Given the description of an element on the screen output the (x, y) to click on. 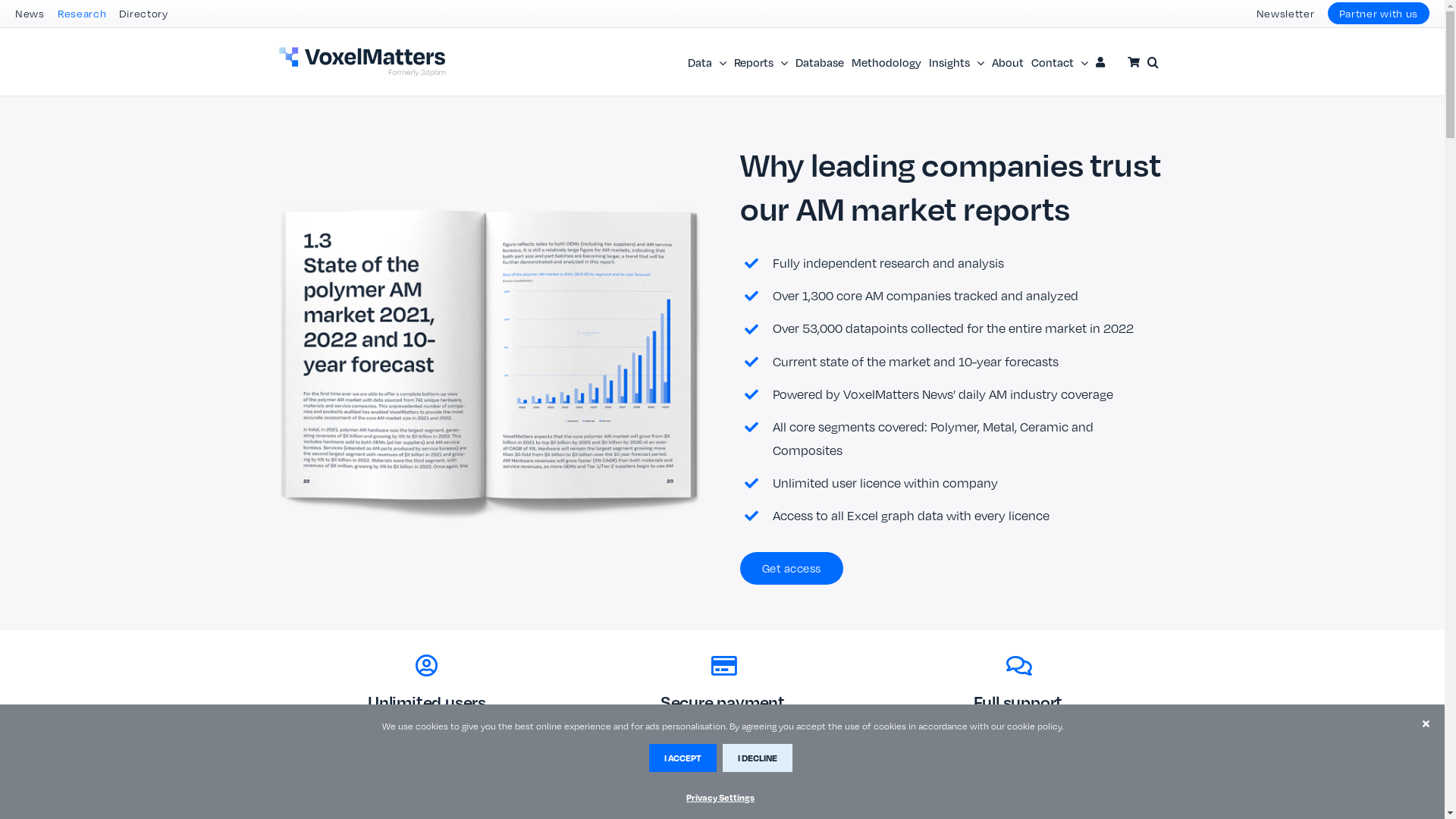
News Element type: text (29, 13)
Insights Element type: text (955, 61)
Get access Element type: text (791, 568)
Directory Element type: text (143, 13)
Methodology Element type: text (885, 61)
Privacy Settings Element type: text (720, 796)
I ACCEPT Element type: text (682, 757)
Research Element type: text (81, 13)
Unlimited users Element type: text (426, 682)
Database Element type: text (818, 61)
Reports Element type: text (760, 61)
About Element type: text (1007, 61)
I DECLINE Element type: text (756, 757)
Contact Element type: text (1059, 61)
Data Element type: text (706, 61)
Partner with us Element type: text (1378, 13)
Newsletter Element type: text (1284, 13)
Search Element type: hover (1151, 61)
